Given the description of an element on the screen output the (x, y) to click on. 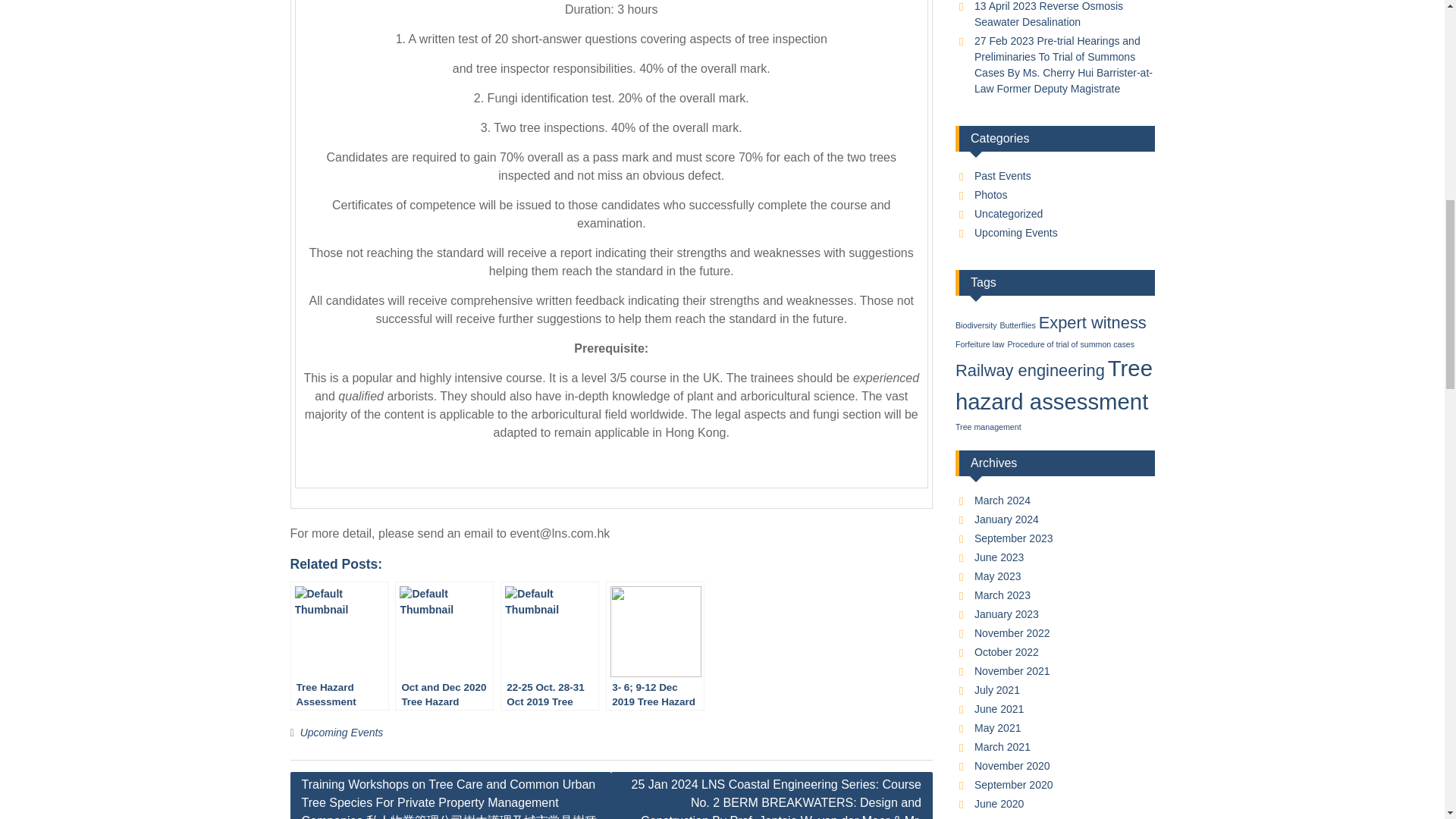
Upcoming Events (341, 732)
